Given the description of an element on the screen output the (x, y) to click on. 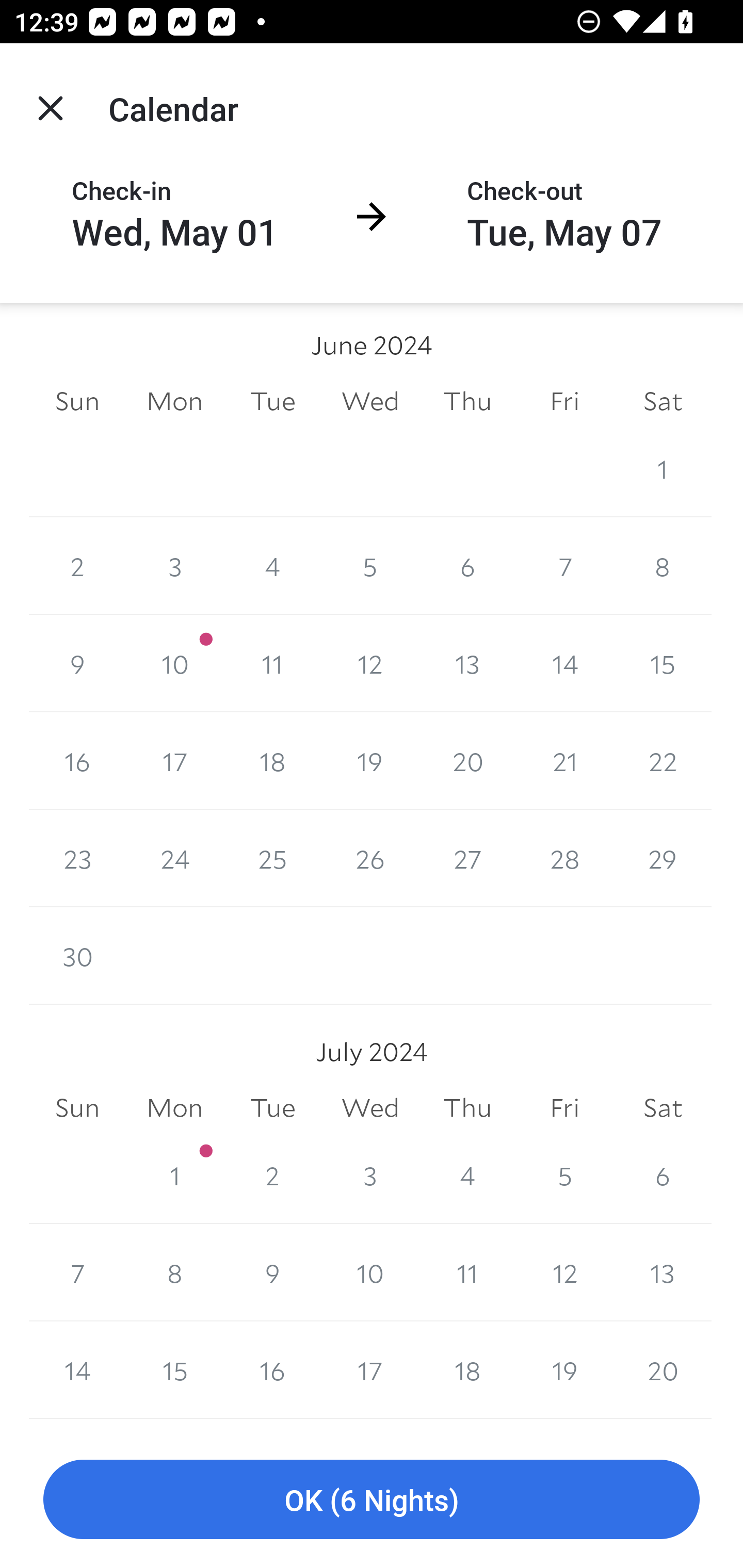
Sun (77, 401)
Mon (174, 401)
Tue (272, 401)
Wed (370, 401)
Thu (467, 401)
Fri (564, 401)
Sat (662, 401)
1 1 June 2024 (662, 468)
2 2 June 2024 (77, 565)
3 3 June 2024 (174, 565)
4 4 June 2024 (272, 565)
5 5 June 2024 (370, 565)
6 6 June 2024 (467, 565)
7 7 June 2024 (564, 565)
8 8 June 2024 (662, 565)
9 9 June 2024 (77, 662)
10 10 June 2024 (174, 662)
11 11 June 2024 (272, 662)
12 12 June 2024 (370, 662)
13 13 June 2024 (467, 662)
14 14 June 2024 (564, 662)
15 15 June 2024 (662, 662)
16 16 June 2024 (77, 760)
17 17 June 2024 (174, 760)
18 18 June 2024 (272, 760)
19 19 June 2024 (370, 760)
20 20 June 2024 (467, 760)
21 21 June 2024 (564, 760)
22 22 June 2024 (662, 760)
23 23 June 2024 (77, 858)
24 24 June 2024 (174, 858)
25 25 June 2024 (272, 858)
26 26 June 2024 (370, 858)
27 27 June 2024 (467, 858)
28 28 June 2024 (564, 858)
29 29 June 2024 (662, 858)
30 30 June 2024 (77, 956)
Sun (77, 1107)
Mon (174, 1107)
Tue (272, 1107)
Wed (370, 1107)
Thu (467, 1107)
Fri (564, 1107)
Sat (662, 1107)
1 1 July 2024 (174, 1174)
2 2 July 2024 (272, 1174)
3 3 July 2024 (370, 1174)
4 4 July 2024 (467, 1174)
5 5 July 2024 (564, 1174)
6 6 July 2024 (662, 1174)
7 7 July 2024 (77, 1272)
8 8 July 2024 (174, 1272)
9 9 July 2024 (272, 1272)
10 10 July 2024 (370, 1272)
11 11 July 2024 (467, 1272)
12 12 July 2024 (564, 1272)
13 13 July 2024 (662, 1272)
14 14 July 2024 (77, 1370)
15 15 July 2024 (174, 1370)
16 16 July 2024 (272, 1370)
17 17 July 2024 (370, 1370)
18 18 July 2024 (467, 1370)
19 19 July 2024 (564, 1370)
20 20 July 2024 (662, 1370)
OK (6 Nights) (371, 1499)
